Given the description of an element on the screen output the (x, y) to click on. 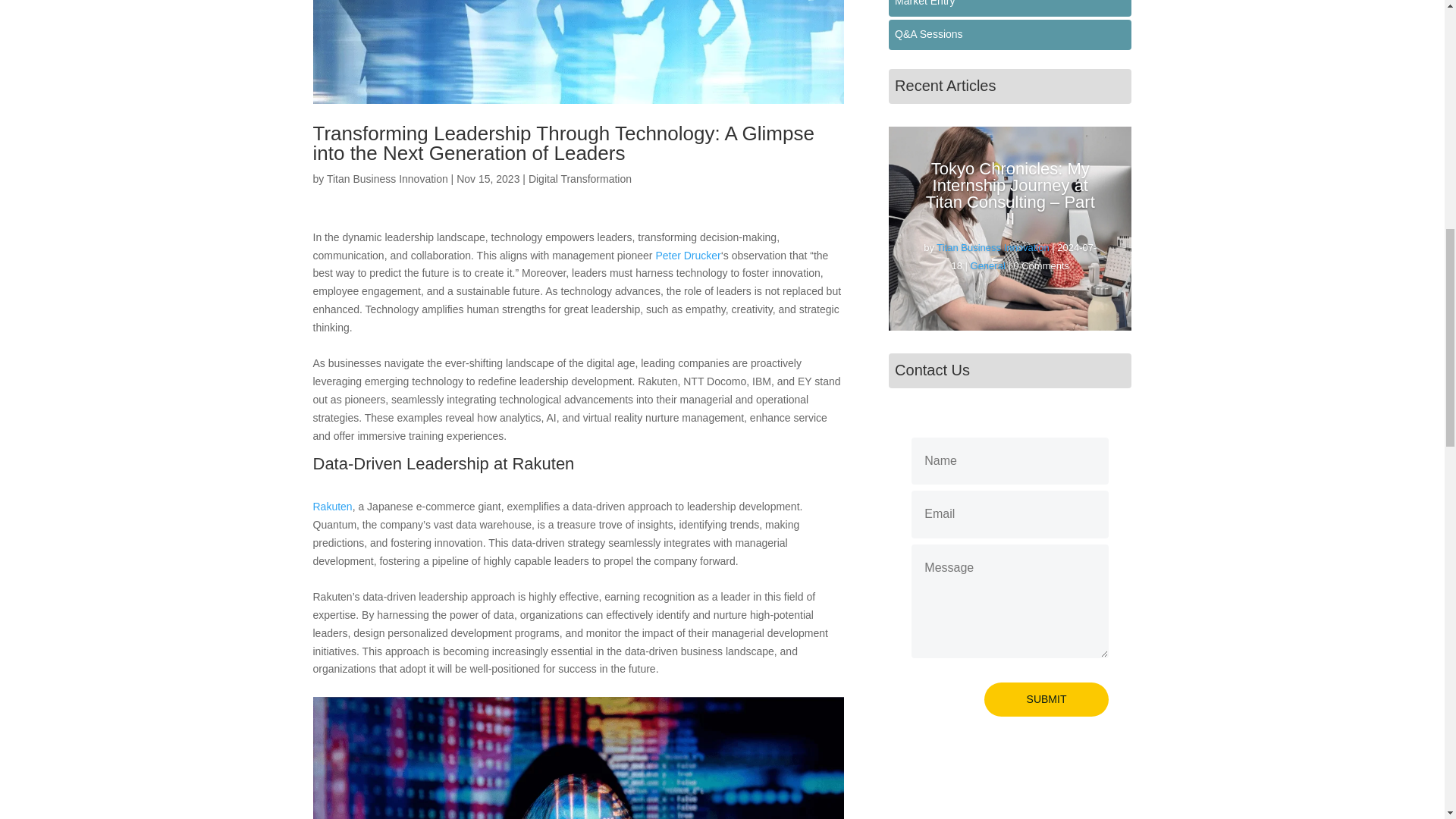
Docu5 (578, 52)
Posts by Titan Business Innovation (387, 178)
Posts by Titan Business Innovation (992, 247)
